Given the description of an element on the screen output the (x, y) to click on. 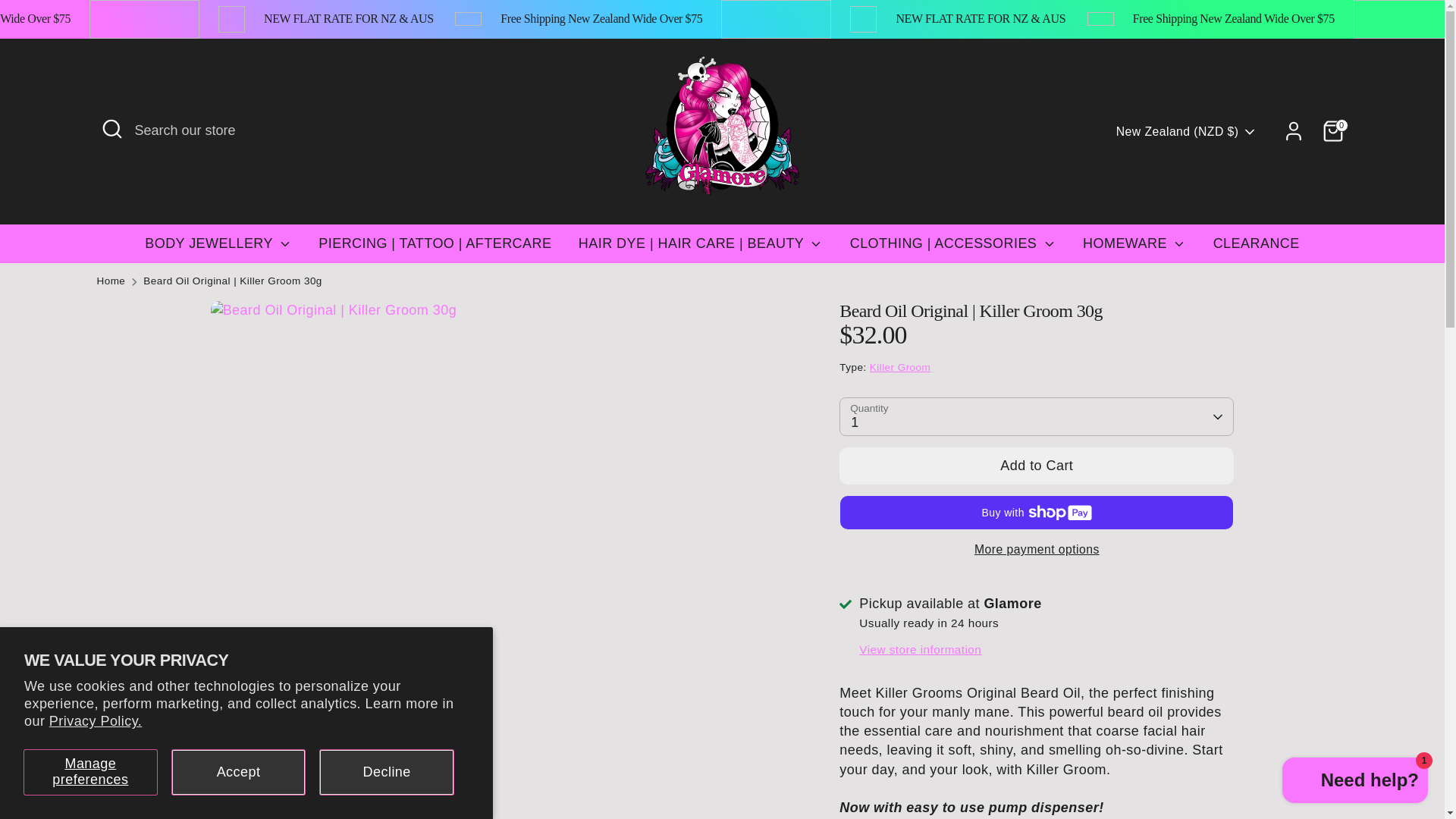
Manage preferences (90, 772)
Decline (386, 772)
Accept (238, 772)
Shopify online store chat (1355, 781)
Privacy Policy. (95, 720)
